Given the description of an element on the screen output the (x, y) to click on. 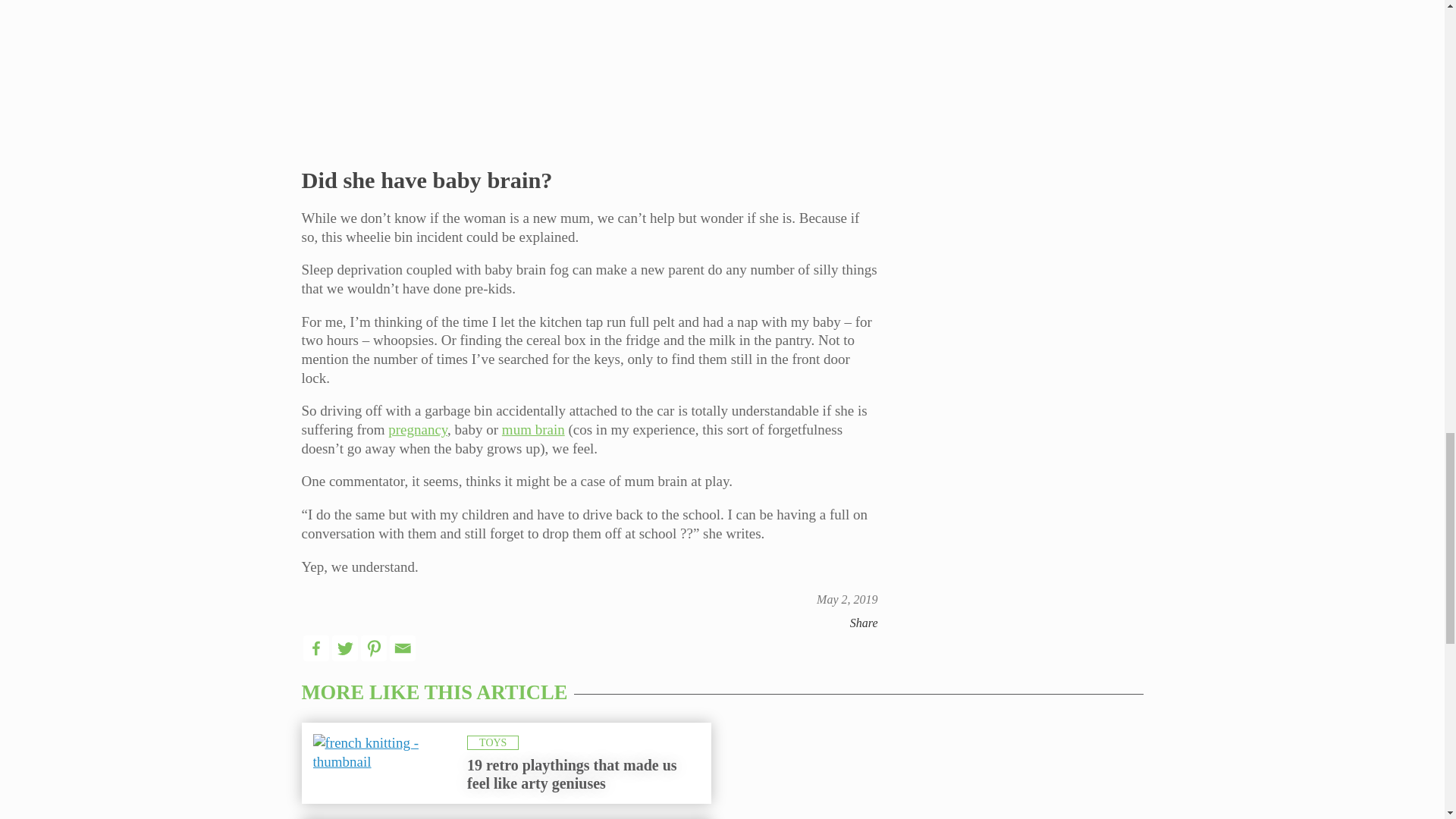
1:42 pm (846, 599)
Facebook (315, 647)
Twitter (344, 647)
